Given the description of an element on the screen output the (x, y) to click on. 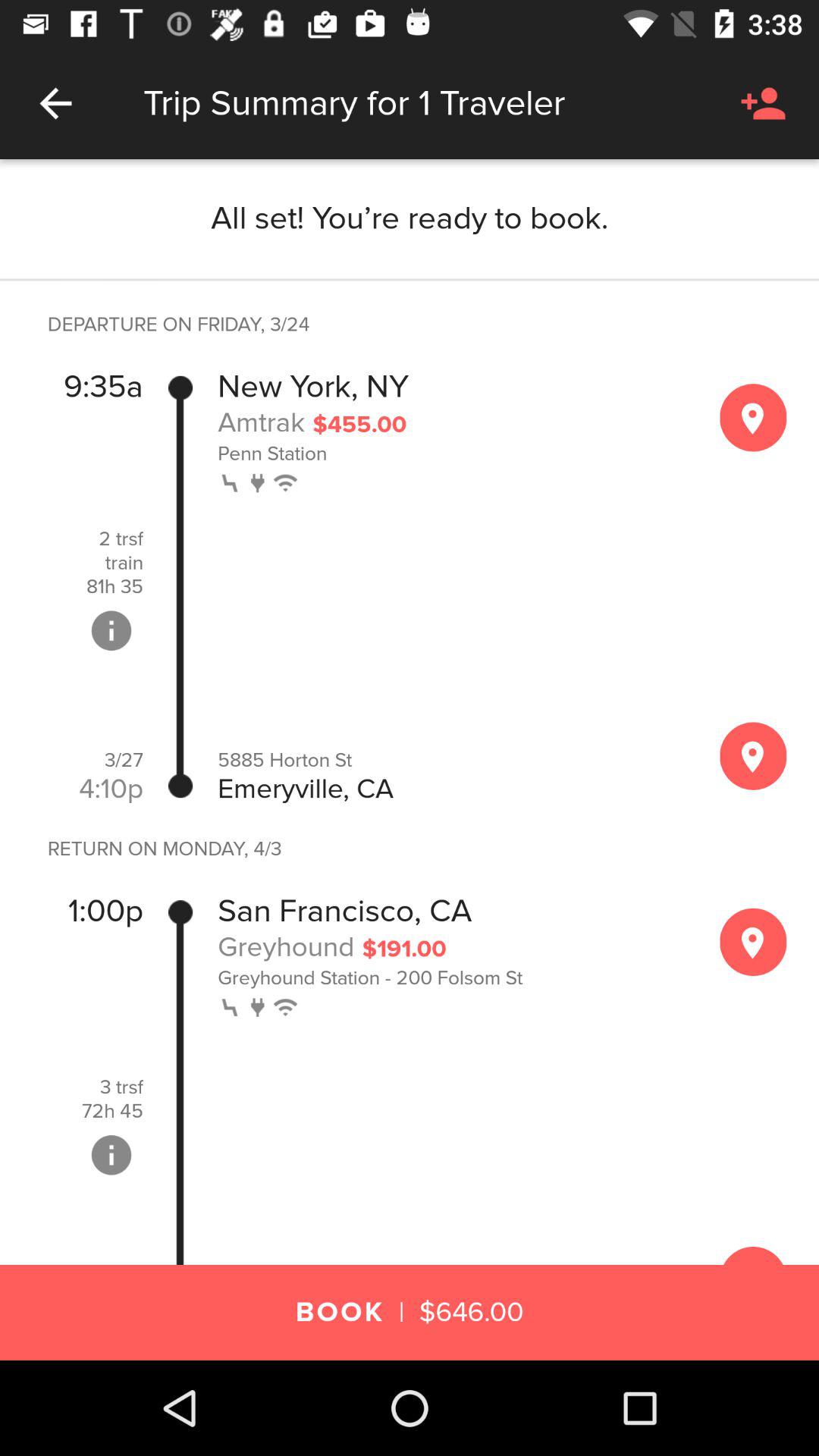
launch item next to the trip summary for icon (55, 103)
